Given the description of an element on the screen output the (x, y) to click on. 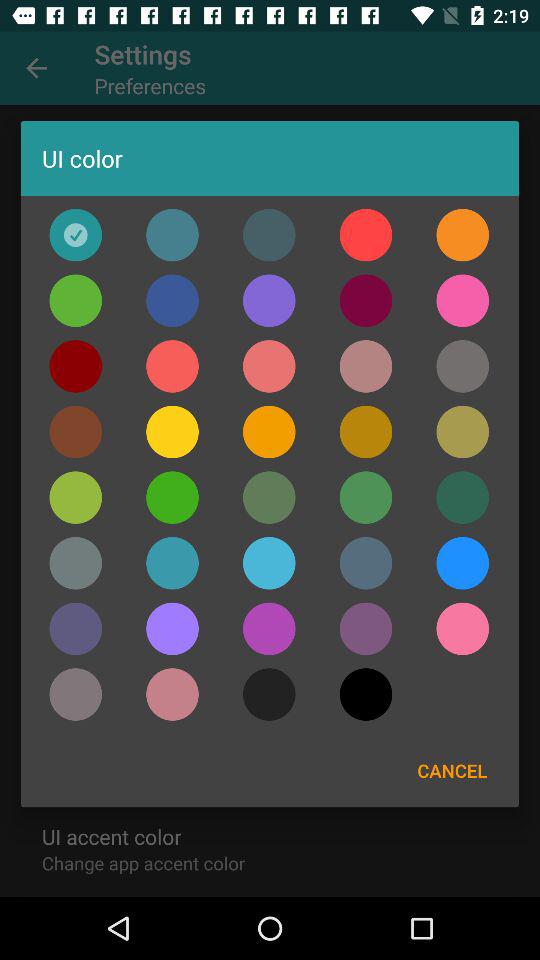
choose the colour (269, 366)
